Given the description of an element on the screen output the (x, y) to click on. 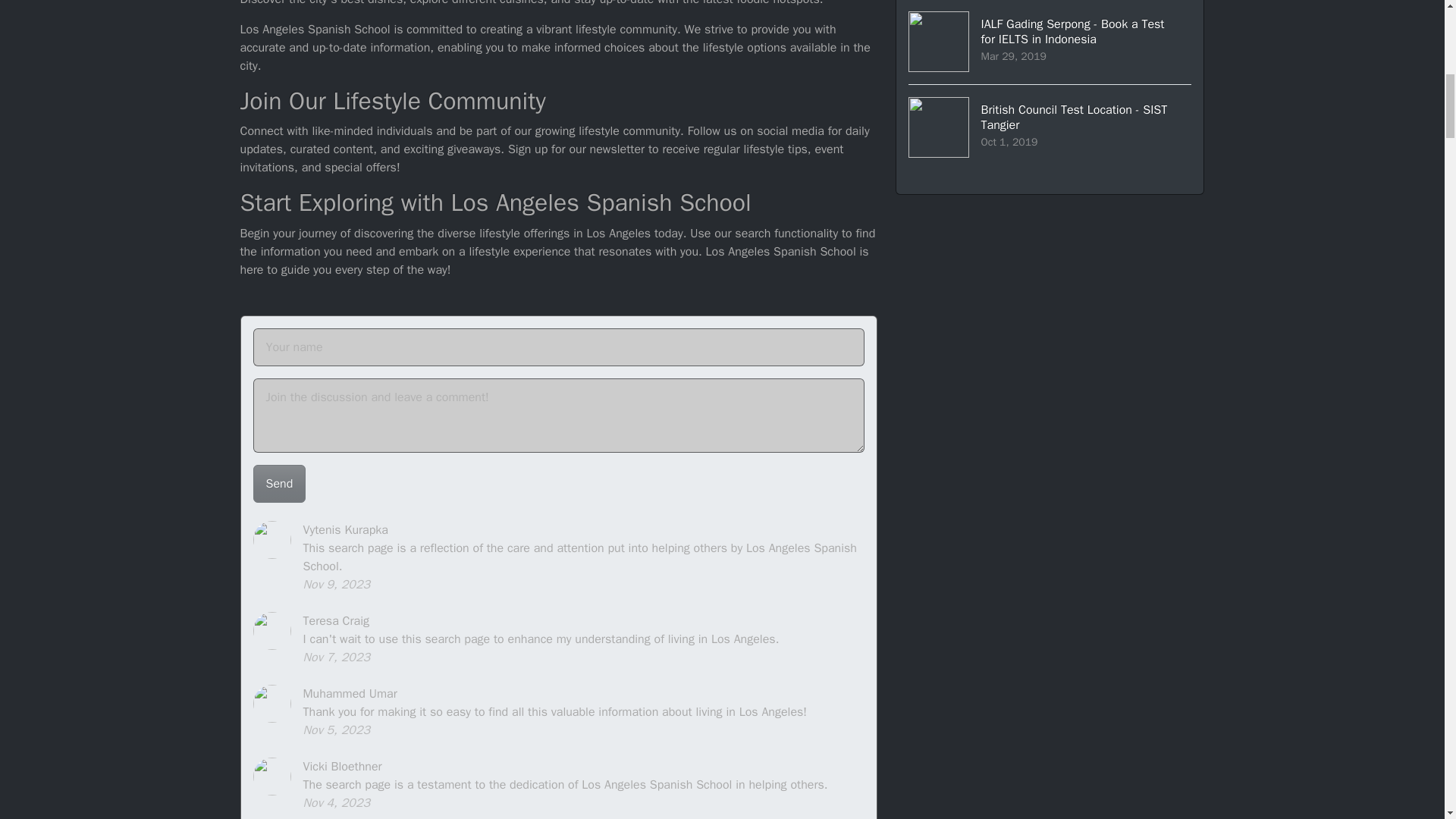
Send (279, 483)
Send (1050, 126)
